Given the description of an element on the screen output the (x, y) to click on. 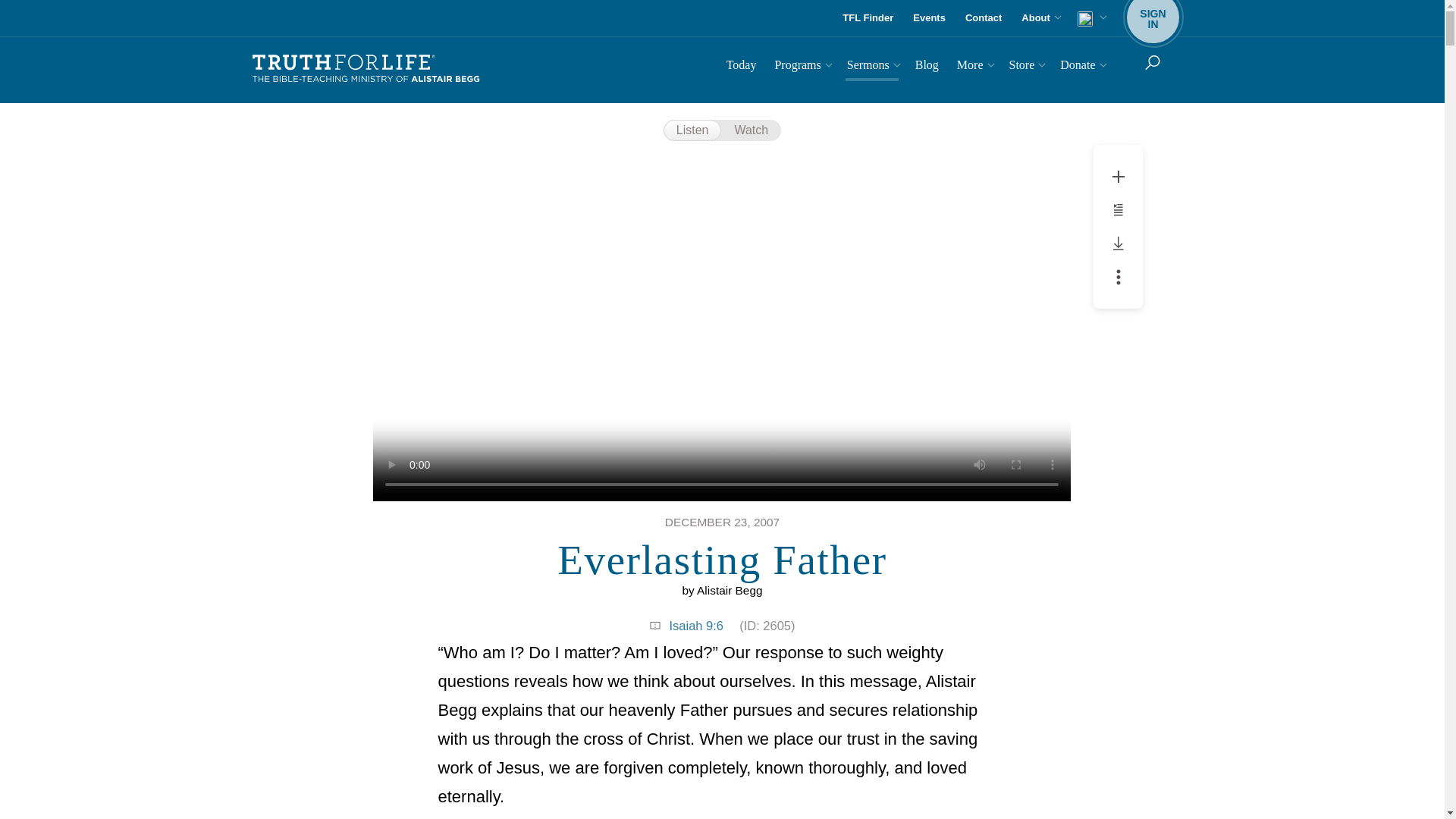
Events (929, 18)
Add to My Library (1117, 176)
More Options (1118, 276)
Truth For Life (365, 68)
cart (1090, 18)
TFL Finder (867, 18)
Contact (1152, 18)
Add to Listen Queue (983, 18)
About (1117, 209)
Add to My Library (1039, 18)
Today (1118, 176)
Download Free (741, 66)
Listen Queue (1118, 243)
Programs (1118, 209)
